Given the description of an element on the screen output the (x, y) to click on. 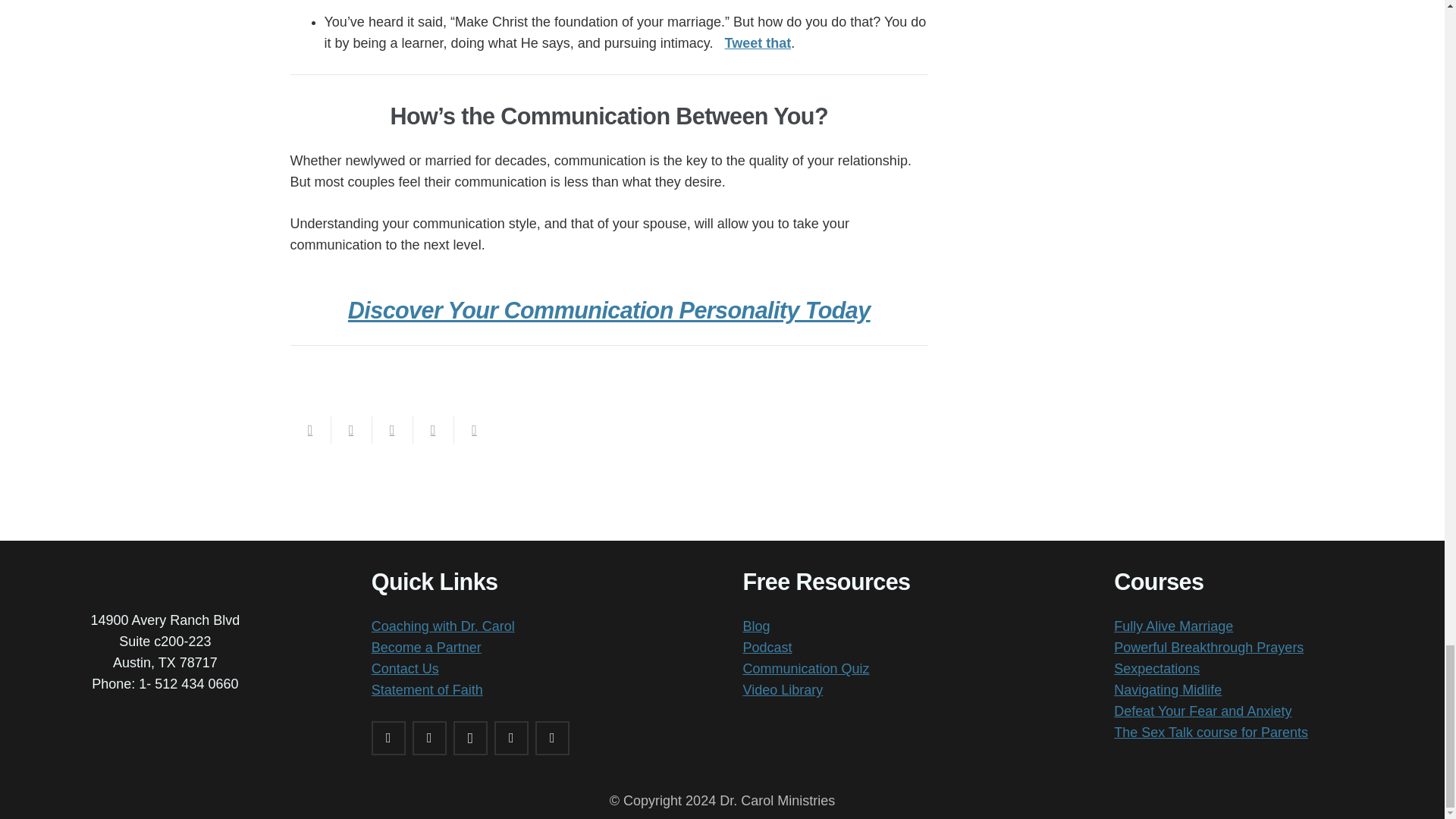
Tweet this (391, 429)
iTunes (511, 738)
Tweet that (756, 43)
Share this (432, 429)
Instagram (469, 738)
Facebook (388, 738)
Twitter (429, 738)
Discover Your Communication Personality Today (608, 309)
Share this (350, 429)
Pin this (473, 429)
